Given the description of an element on the screen output the (x, y) to click on. 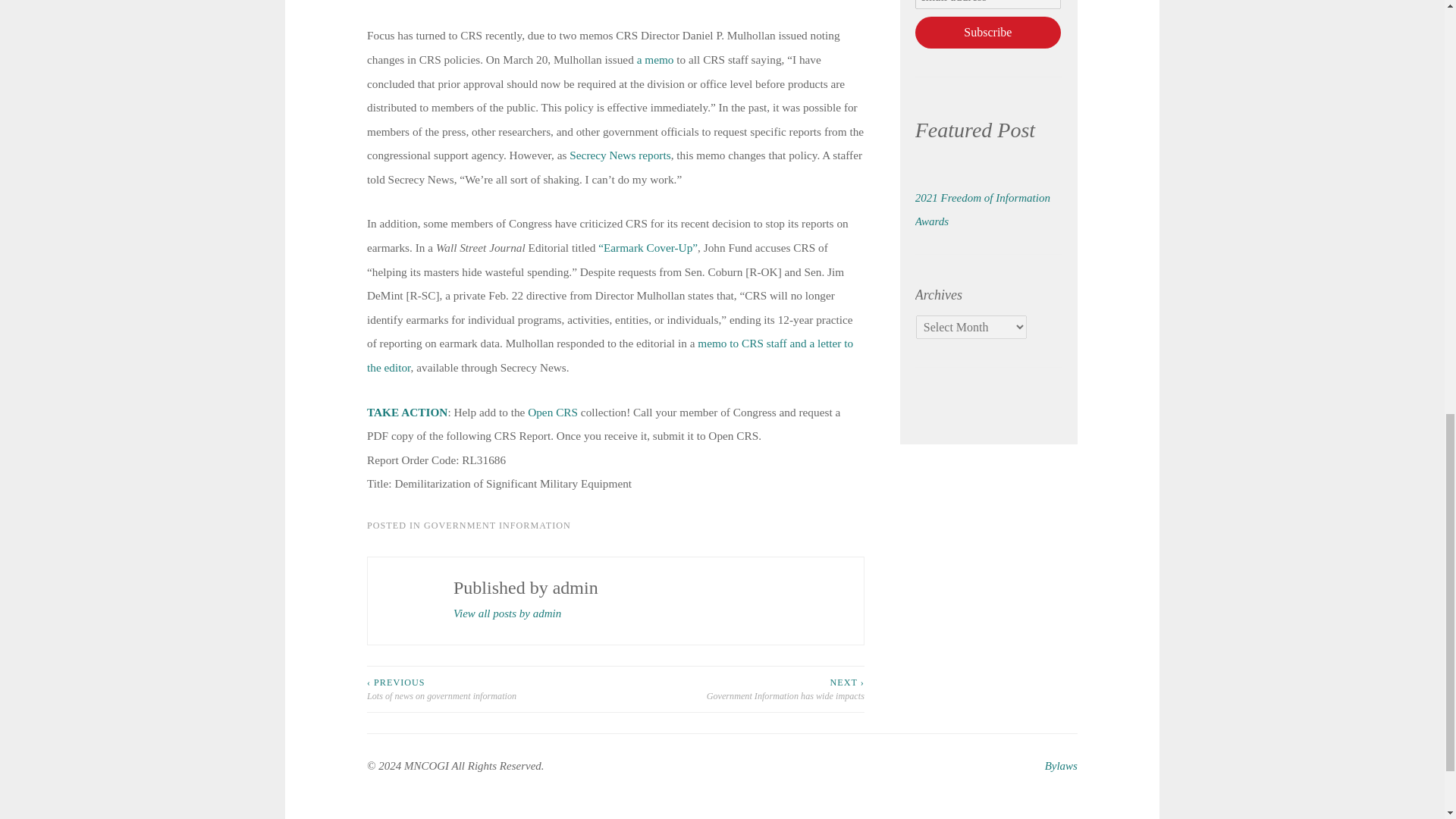
Subscribe (988, 32)
Subscribe (988, 32)
Secrecy News reports (619, 154)
a memo (655, 59)
TAKE ACTION (406, 411)
Bylaws (1061, 766)
memo to CRS staff and a letter to the editor (609, 354)
2021 Freedom of Information Awards (982, 208)
View all posts by admin (506, 613)
Open CRS (552, 411)
GOVERNMENT INFORMATION (496, 525)
